Given the description of an element on the screen output the (x, y) to click on. 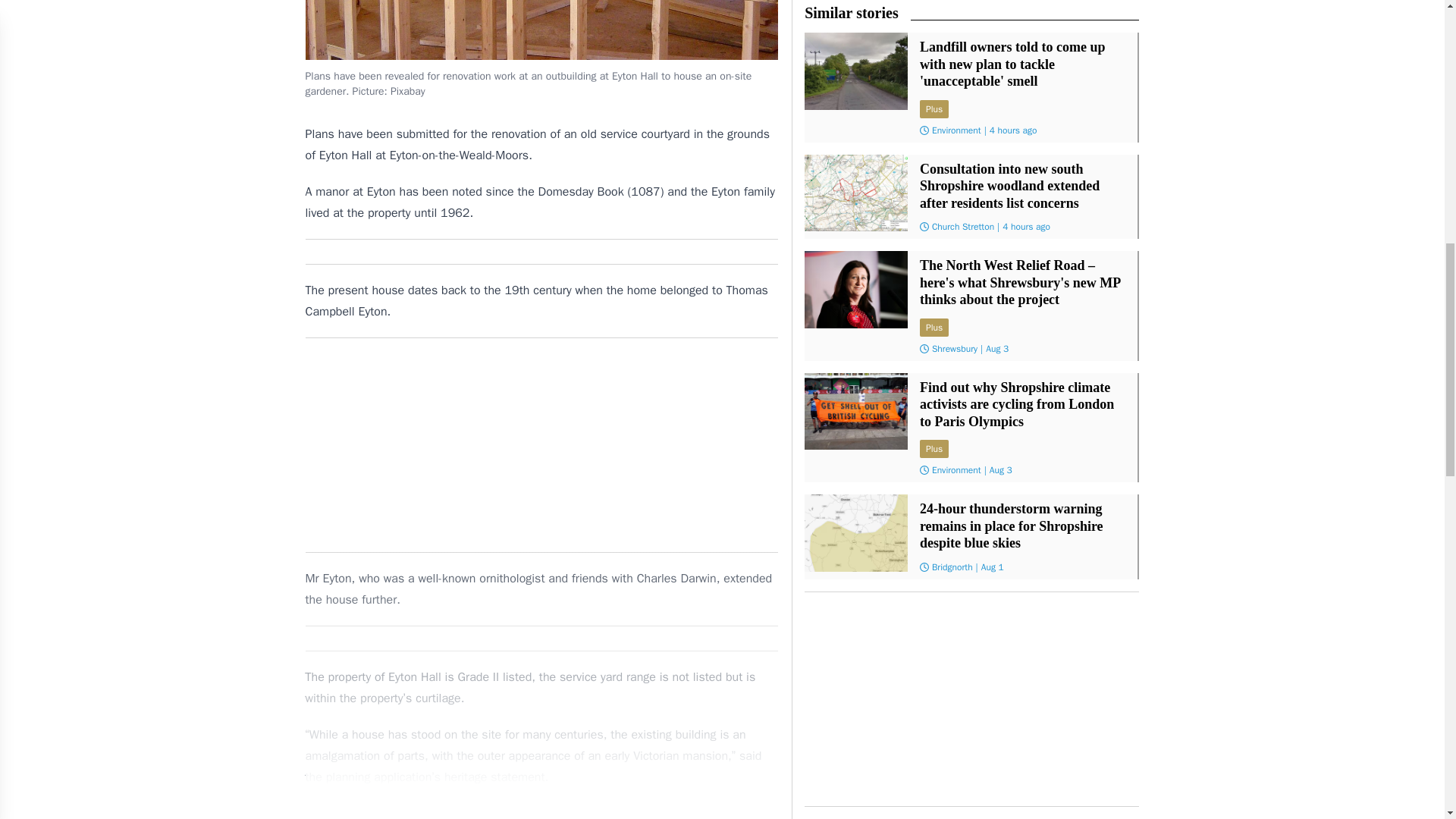
Church Stretton (962, 226)
Bridgnorth (951, 567)
Environment (956, 469)
Environment (956, 130)
Shrewsbury (953, 348)
